Given the description of an element on the screen output the (x, y) to click on. 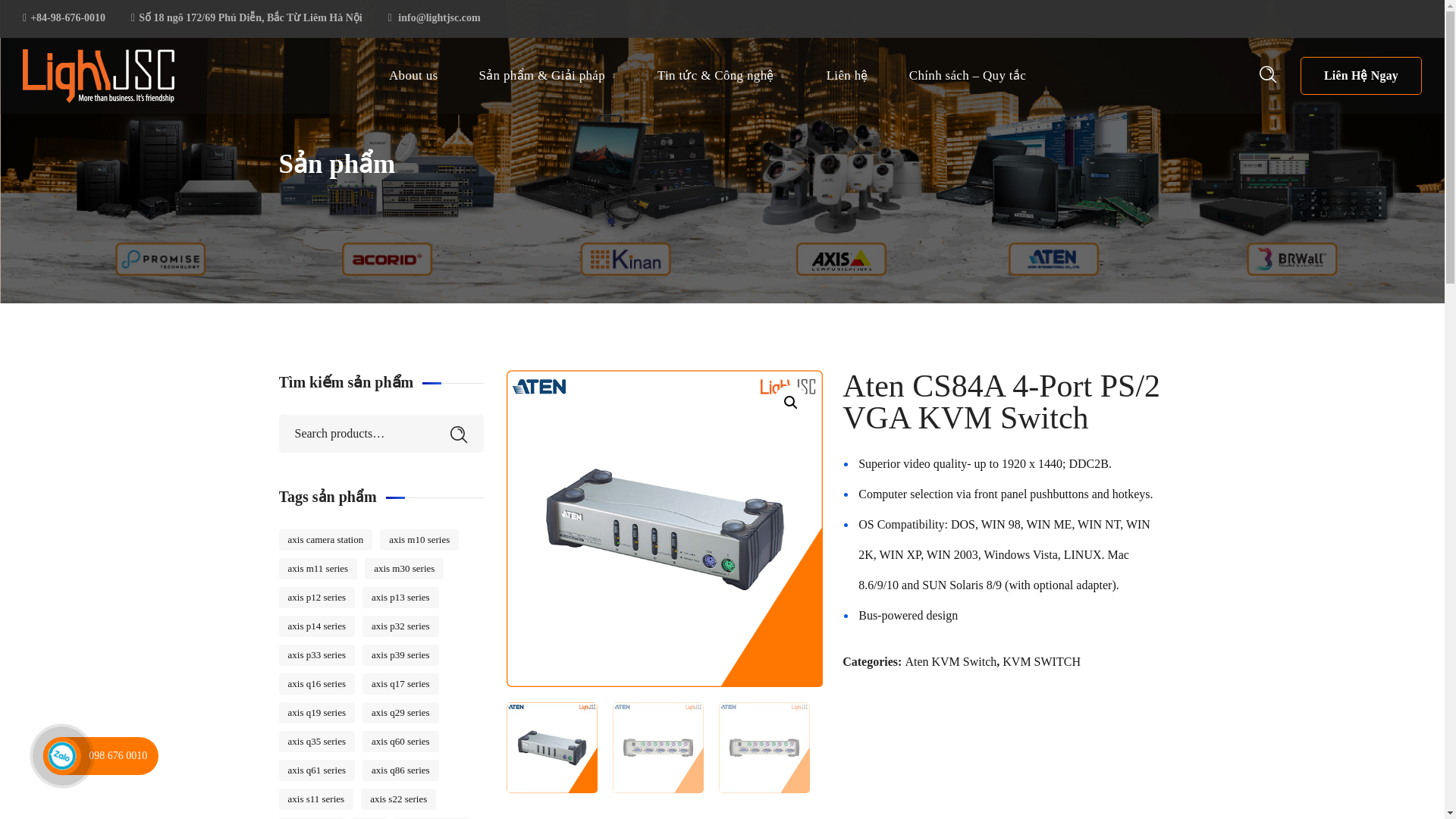
About us (413, 75)
Search (1222, 157)
098 676 0010 (117, 755)
cs84a.kvm.desktop-kvm-switches.45 (665, 528)
